Given the description of an element on the screen output the (x, y) to click on. 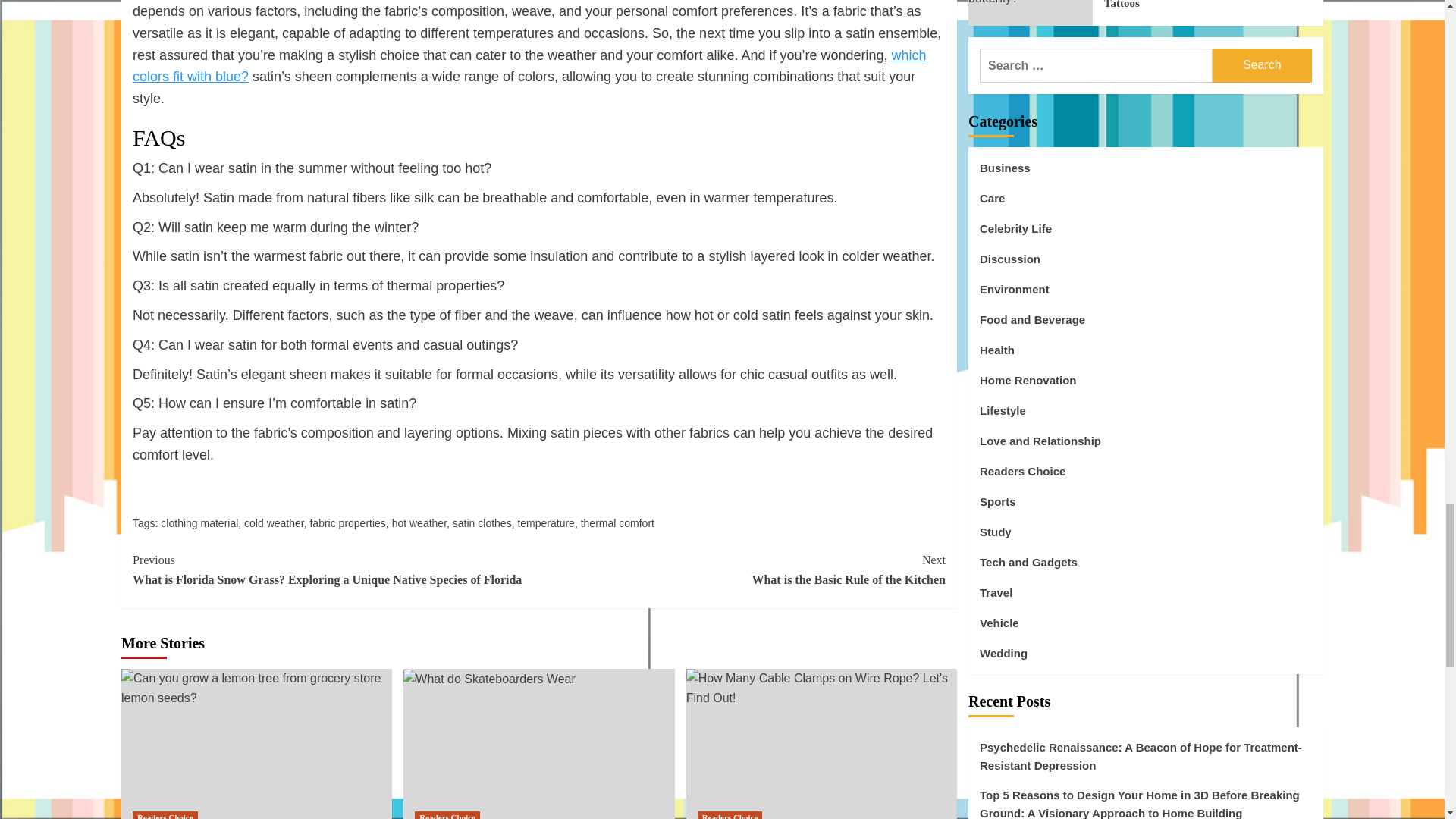
clothing material (199, 522)
cold weather (274, 522)
which colors fit with blue? (529, 66)
